Given the description of an element on the screen output the (x, y) to click on. 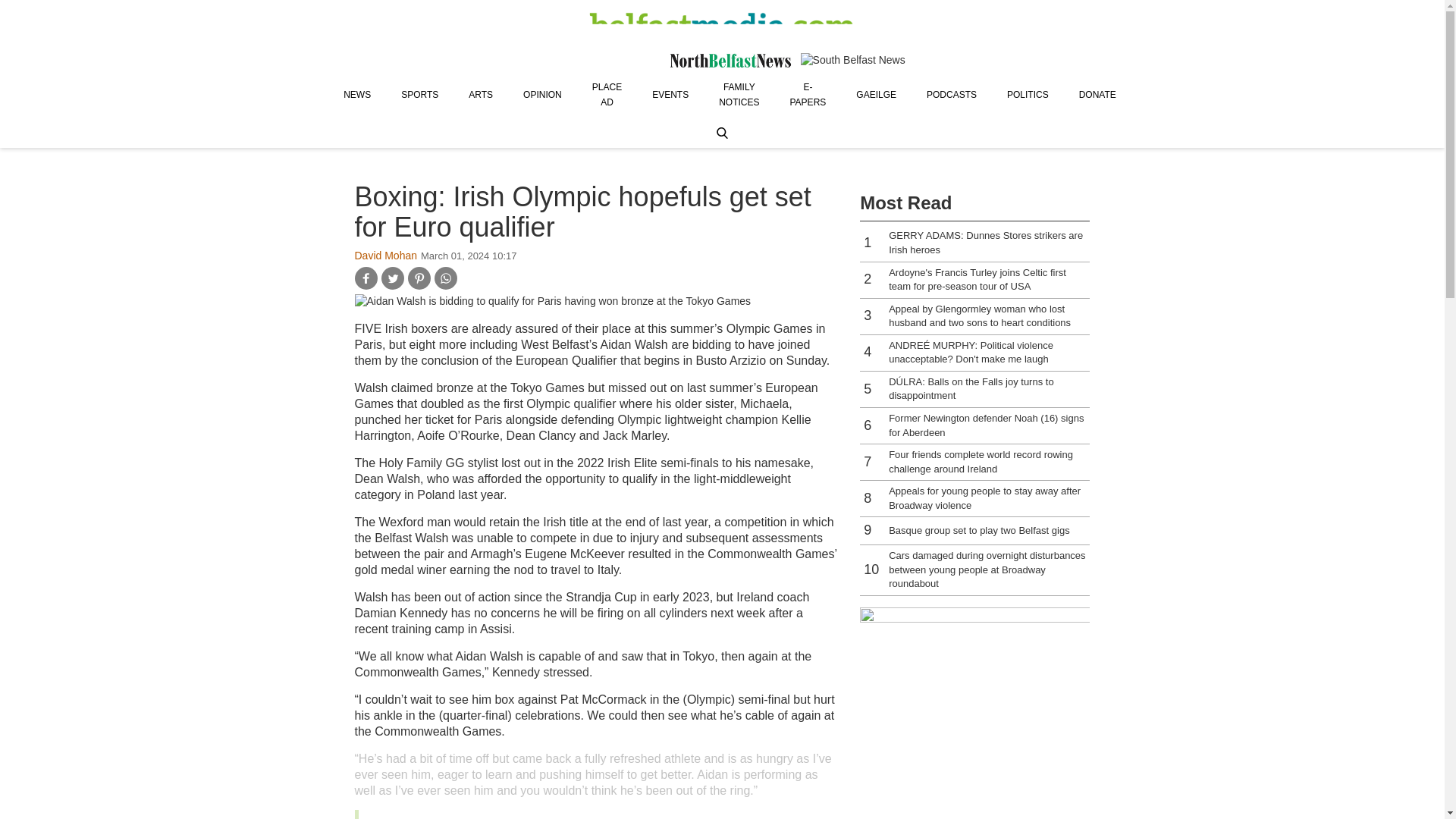
SPORTS (418, 94)
NEWS (357, 94)
OPINION (542, 94)
ARTS (480, 94)
